Given the description of an element on the screen output the (x, y) to click on. 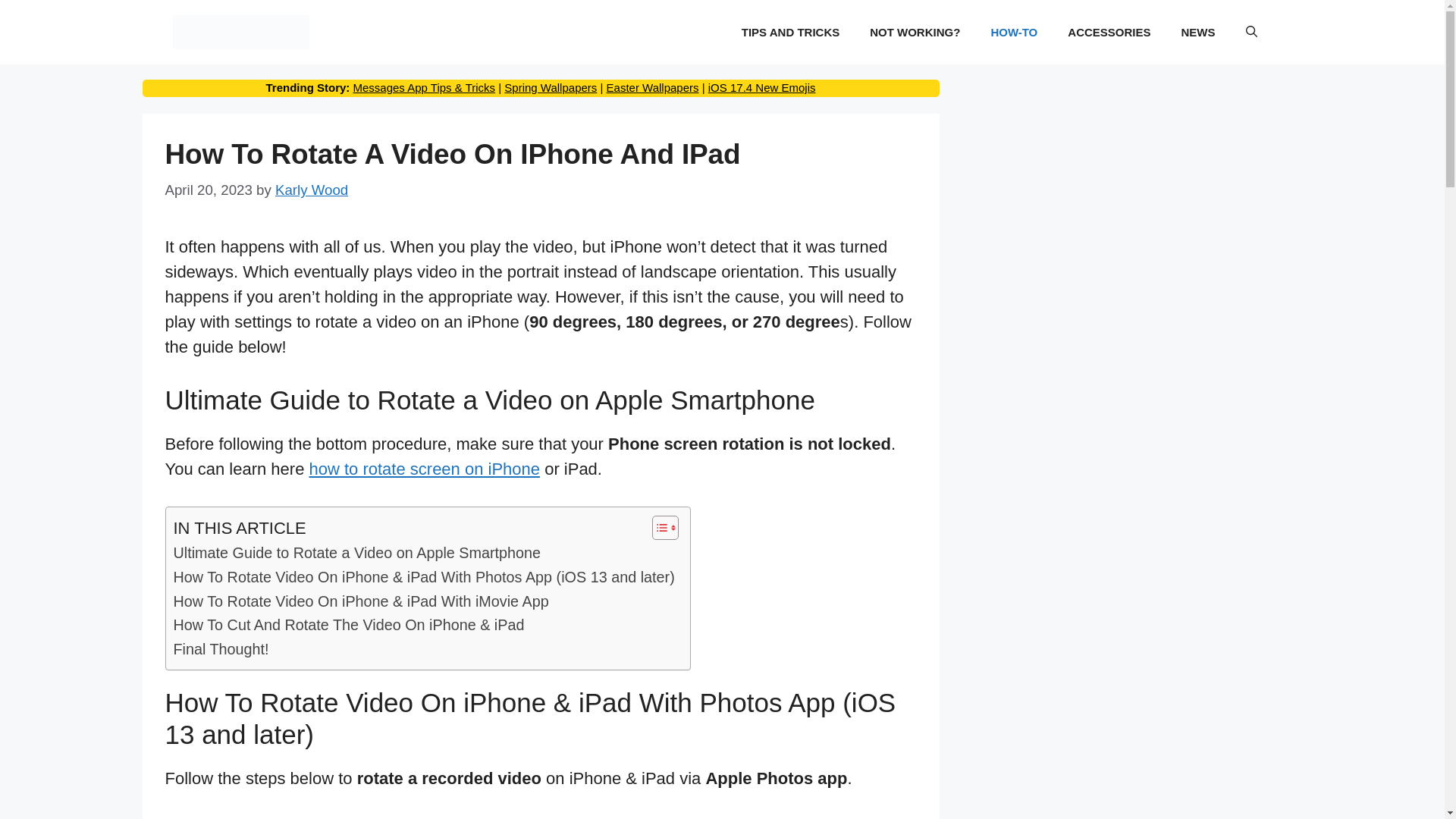
Spring Wallpapers (549, 87)
Karly Wood (311, 189)
Ultimate Guide to Rotate a Video on Apple Smartphone (356, 553)
HOW-TO (1013, 31)
Final Thought! (220, 649)
Ultimate Guide to Rotate a Video on Apple Smartphone (356, 553)
Final Thought! (220, 649)
iOS 17.4 New Emojis (761, 87)
NOT WORKING? (914, 31)
ACCESSORIES (1109, 31)
View all posts by Karly Wood (311, 189)
Easter Wallpapers (652, 87)
TIPS AND TRICKS (790, 31)
how to rotate screen on iPhone (424, 468)
NEWS (1198, 31)
